Given the description of an element on the screen output the (x, y) to click on. 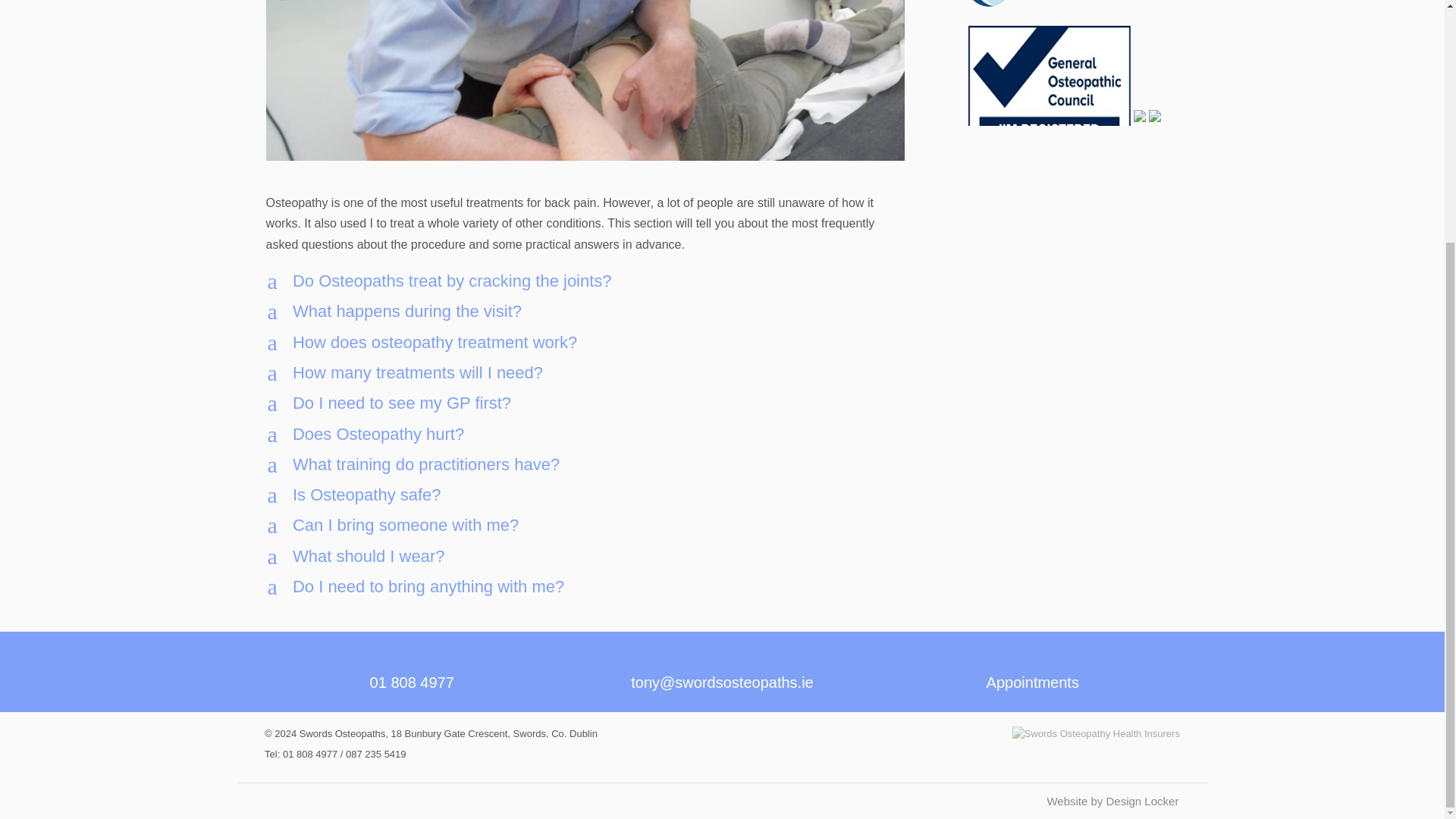
Website by Design Locker (585, 372)
Appointments (585, 342)
Website Design Limerick (585, 434)
